Given the description of an element on the screen output the (x, y) to click on. 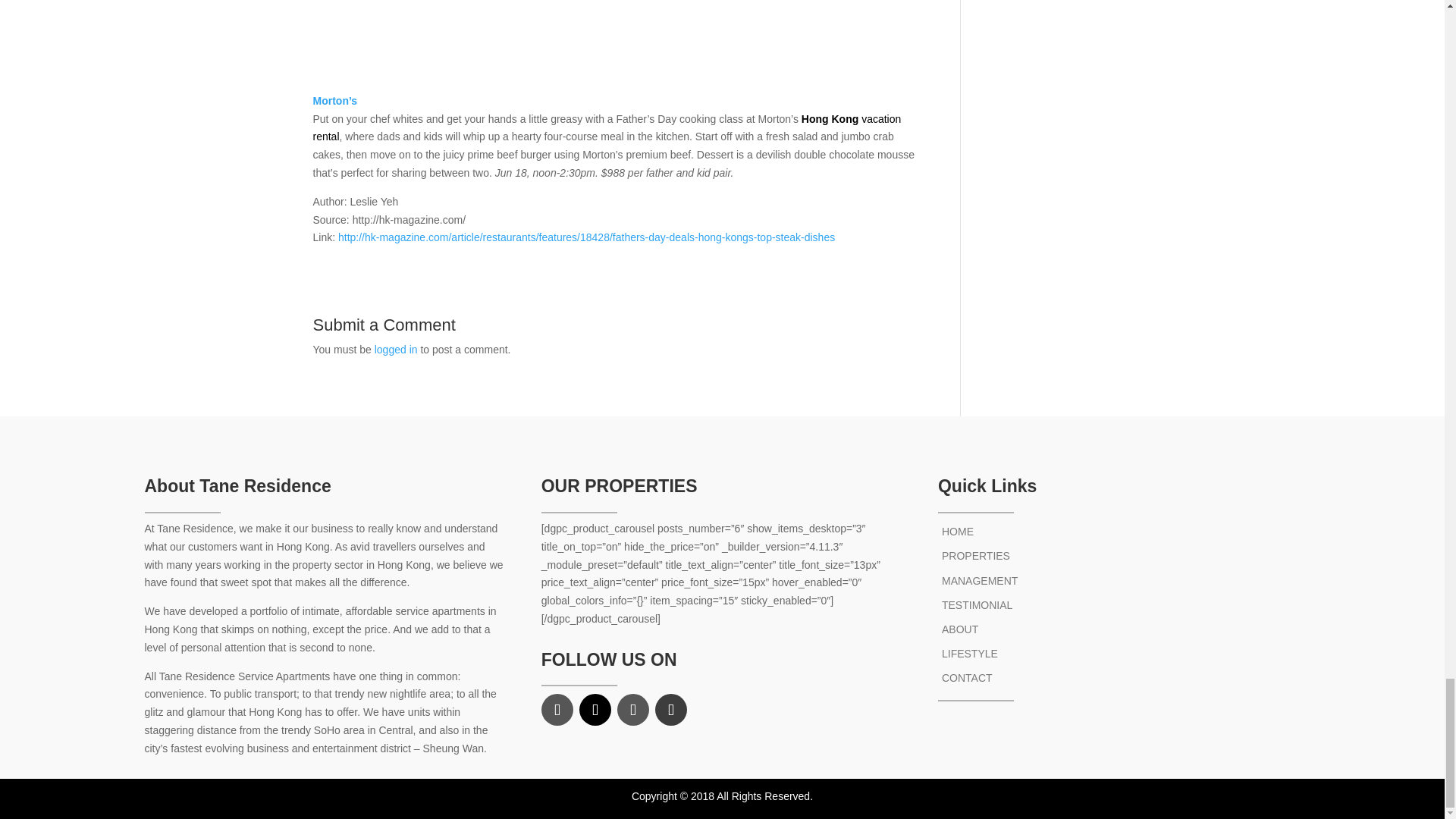
Follow on X (595, 709)
Follow on Facebook (557, 709)
Follow on Instagram (633, 709)
Follow on Youtube (671, 709)
